Given the description of an element on the screen output the (x, y) to click on. 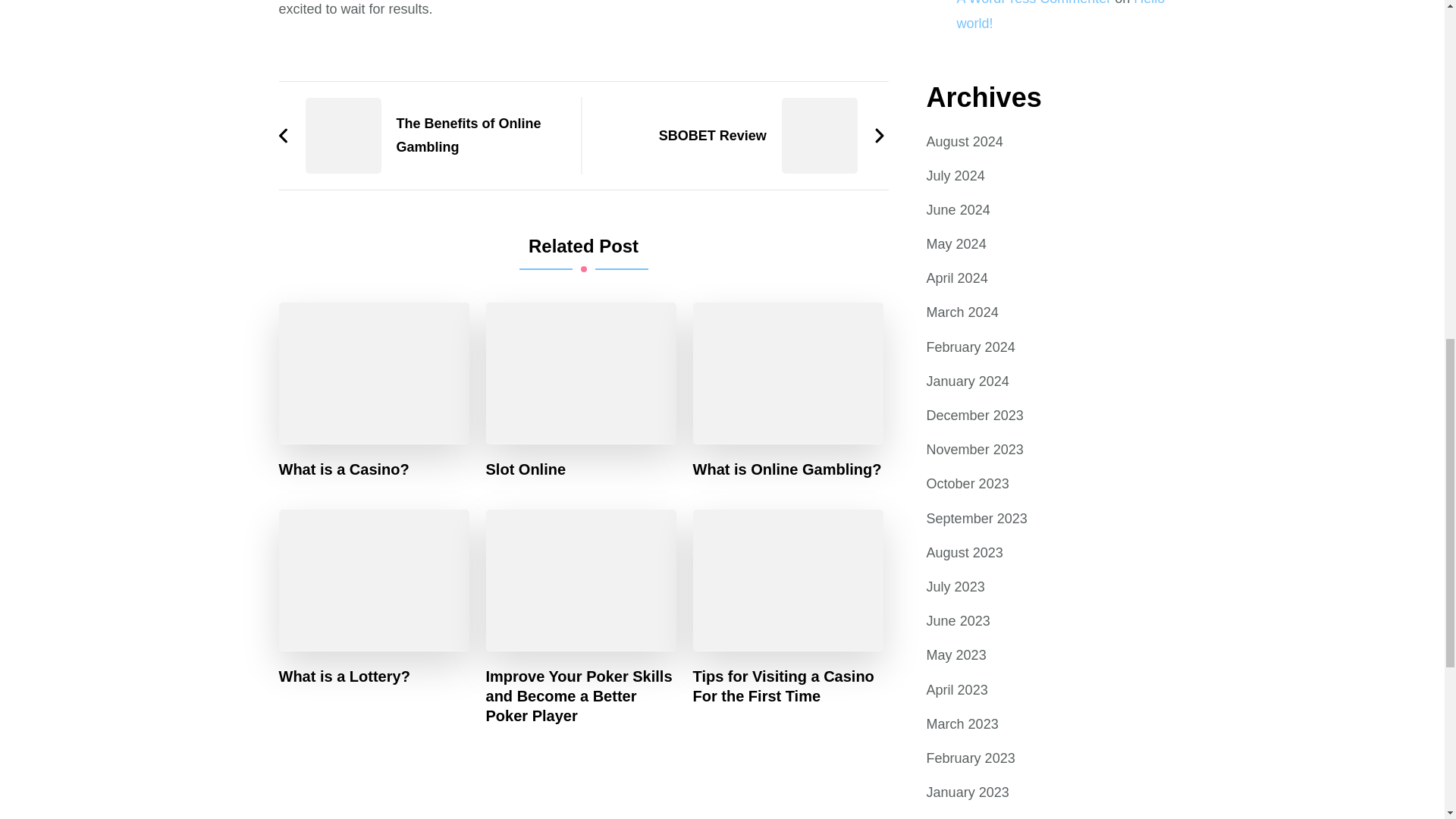
August 2024 (964, 140)
Hello world! (1061, 15)
What is Online Gambling? (787, 469)
What is a Lottery? (344, 675)
The Benefits of Online Gambling (421, 135)
June 2024 (958, 210)
Tips for Visiting a Casino For the First Time (788, 685)
What is a Casino? (344, 469)
May 2024 (956, 244)
July 2024 (955, 176)
